Given the description of an element on the screen output the (x, y) to click on. 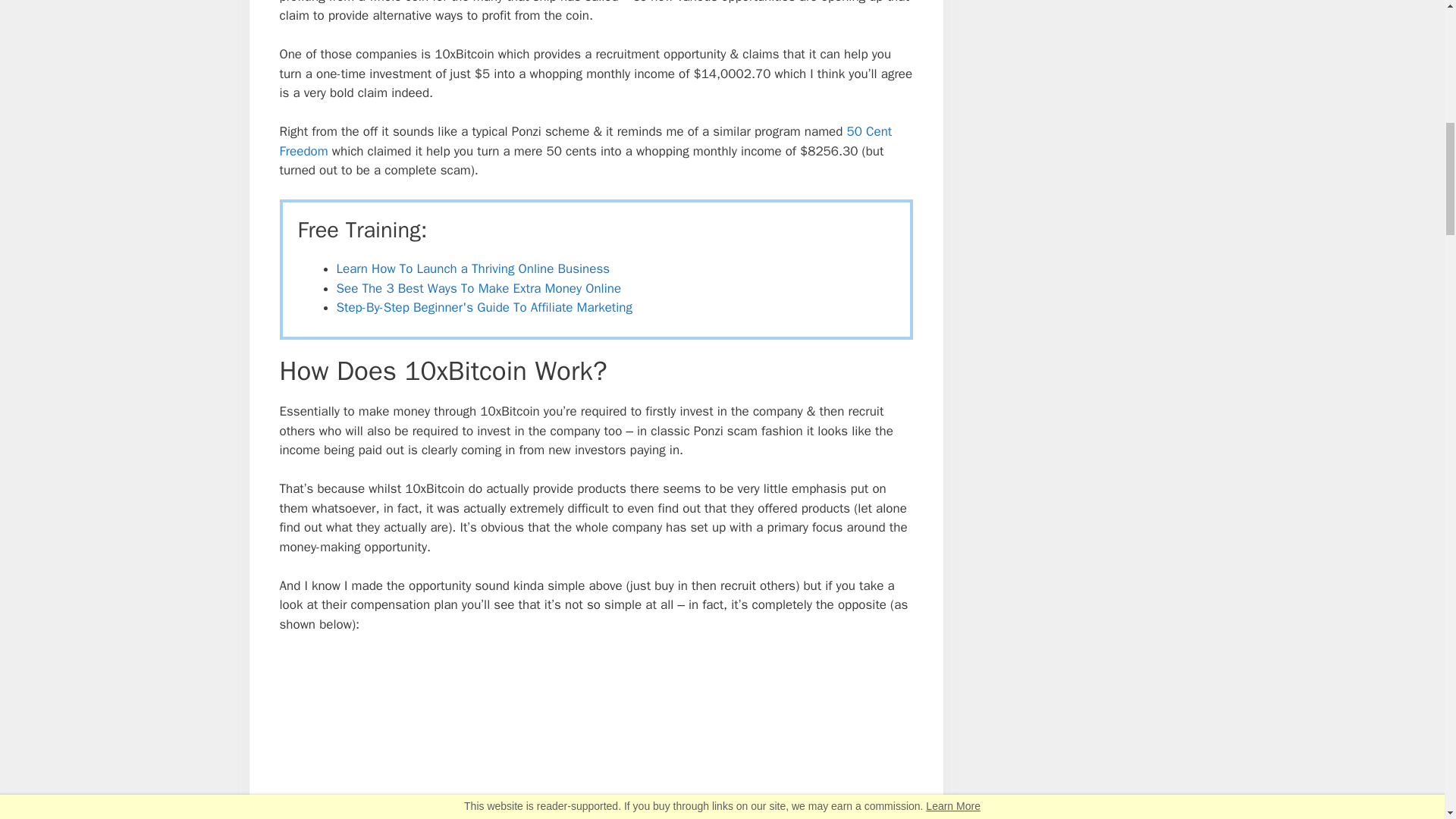
Step-By-Step Beginner's Guide To Affiliate Marketing (483, 307)
Learn How To Launch a Thriving Online Business (473, 268)
50 Cent Freedom (585, 140)
See The 3 Best Ways To Make Extra Money Online (478, 288)
